Given the description of an element on the screen output the (x, y) to click on. 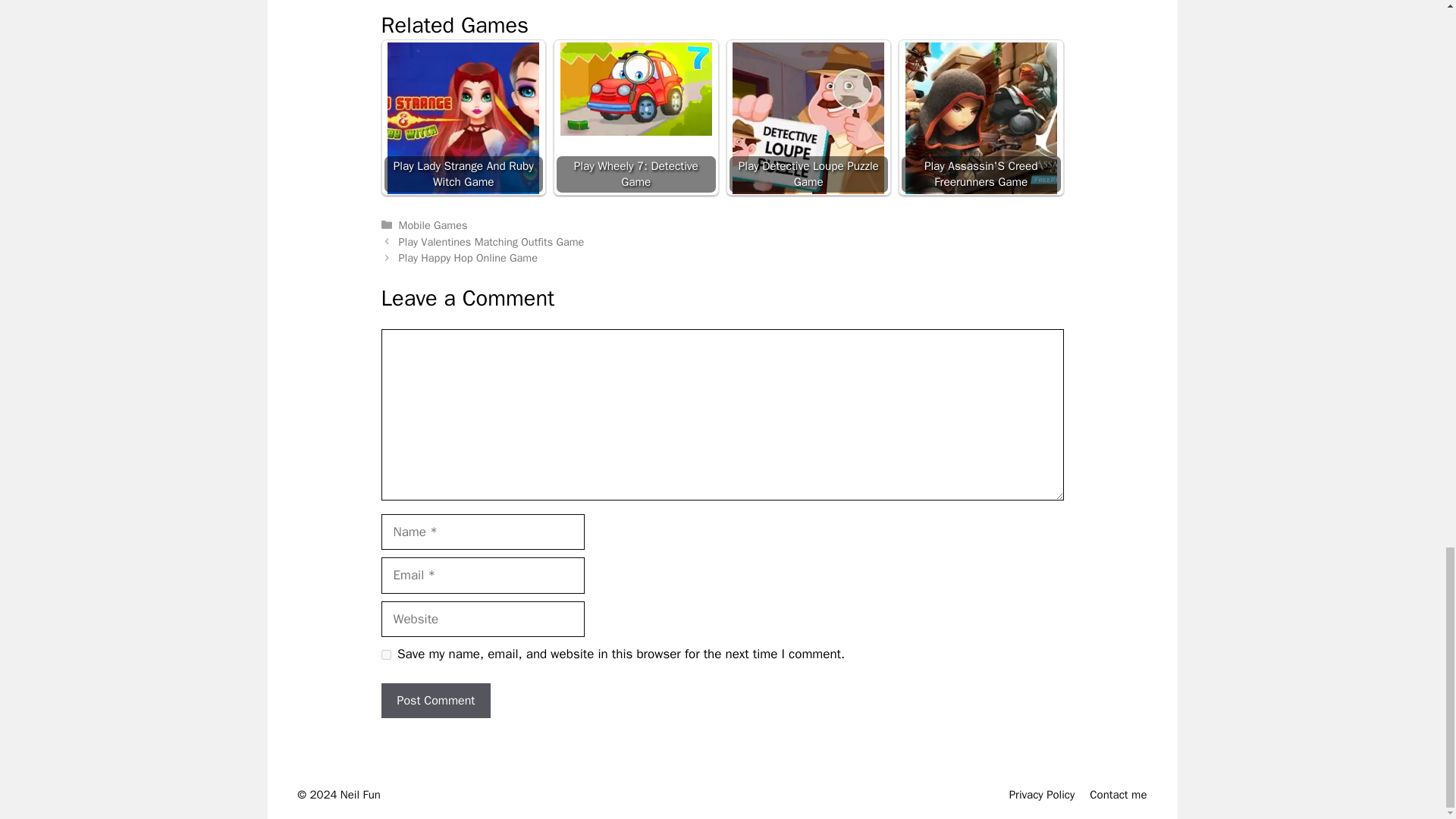
Play Lady Strange And Ruby Witch Game (463, 117)
Privacy Policy (1042, 794)
Post Comment (435, 700)
Play Detective Loupe Puzzle Game (807, 118)
